Given the description of an element on the screen output the (x, y) to click on. 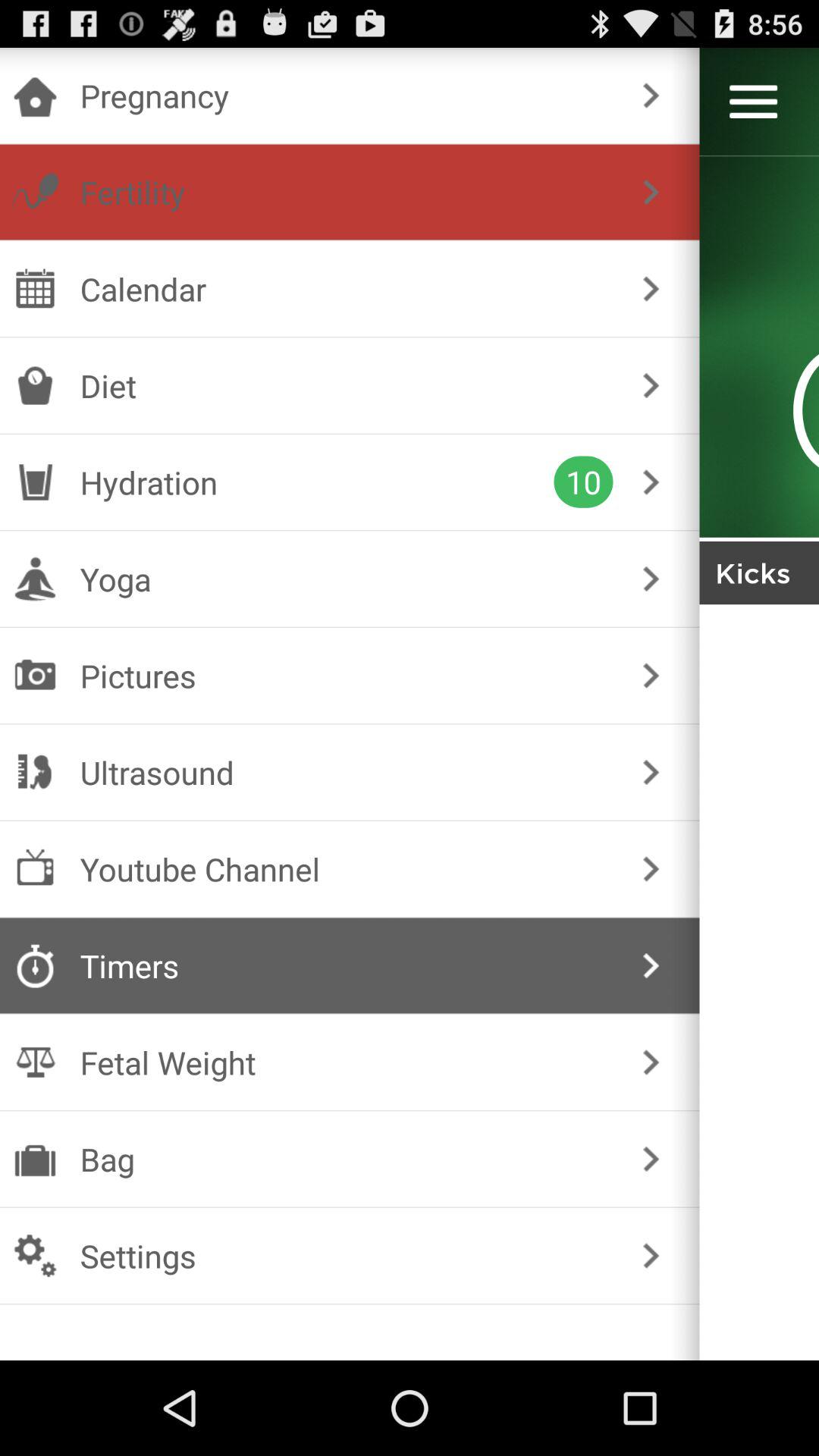
jump to settings checkbox (346, 1255)
